Given the description of an element on the screen output the (x, y) to click on. 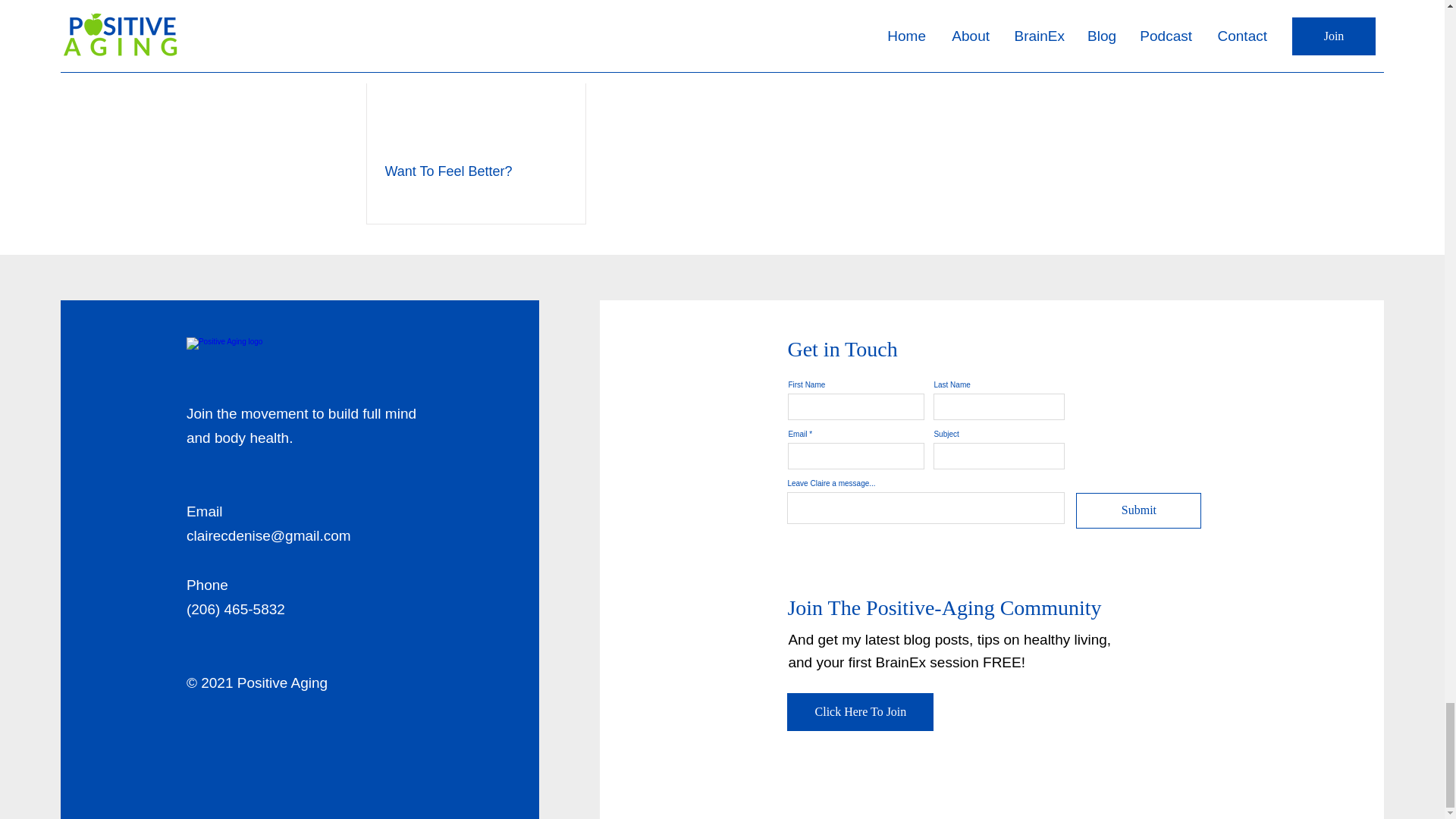
Click Here To Join (860, 711)
See All (1061, 3)
Submit (1138, 510)
Want To Feel Better? (476, 171)
